Given the description of an element on the screen output the (x, y) to click on. 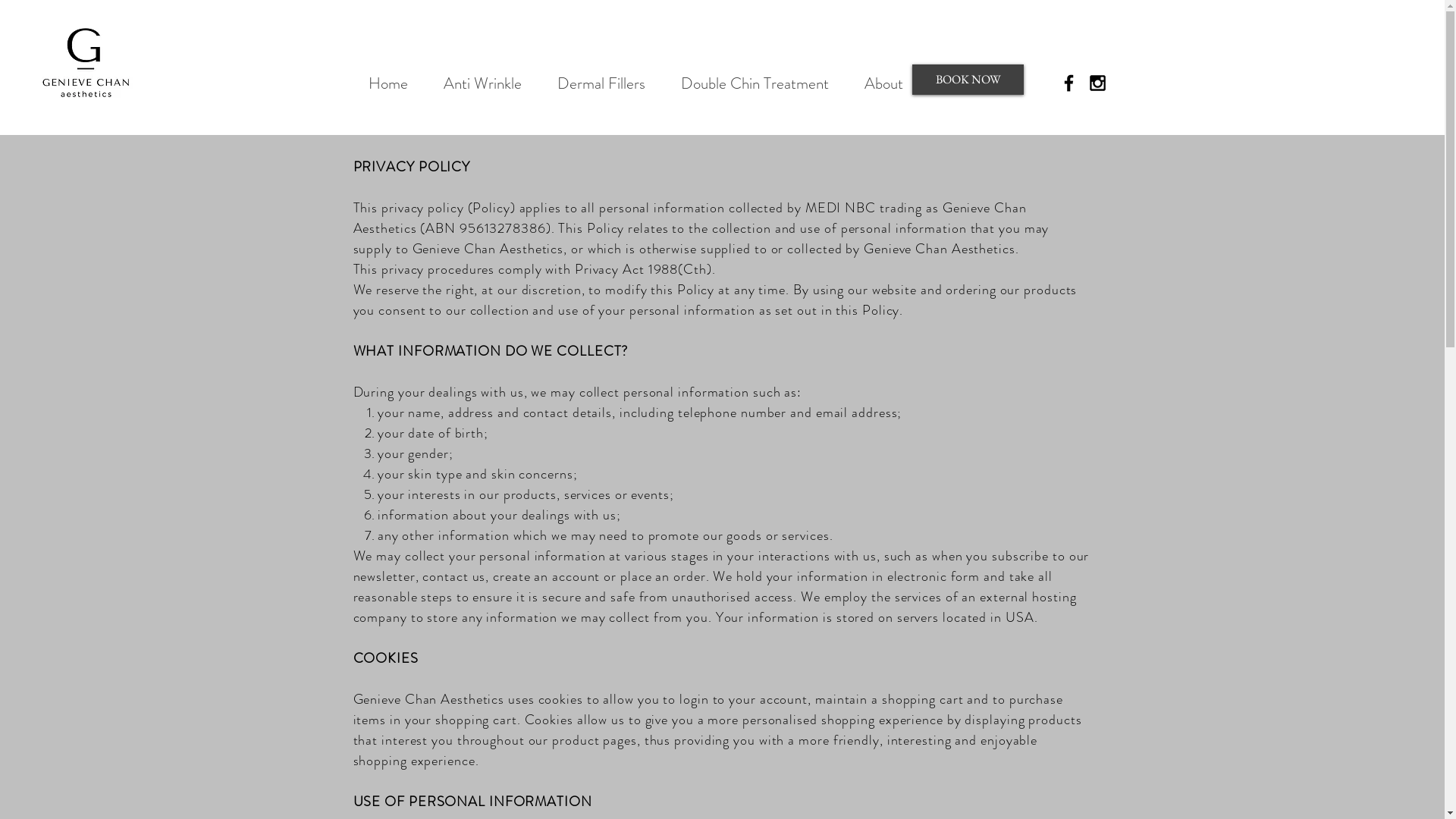
Home Element type: text (387, 83)
Double Chin Treatment Element type: text (754, 83)
BOOK NOW Element type: text (967, 79)
Dermal Fillers Element type: text (601, 83)
Anti Wrinkle Element type: text (482, 83)
About Element type: text (883, 83)
